Given the description of an element on the screen output the (x, y) to click on. 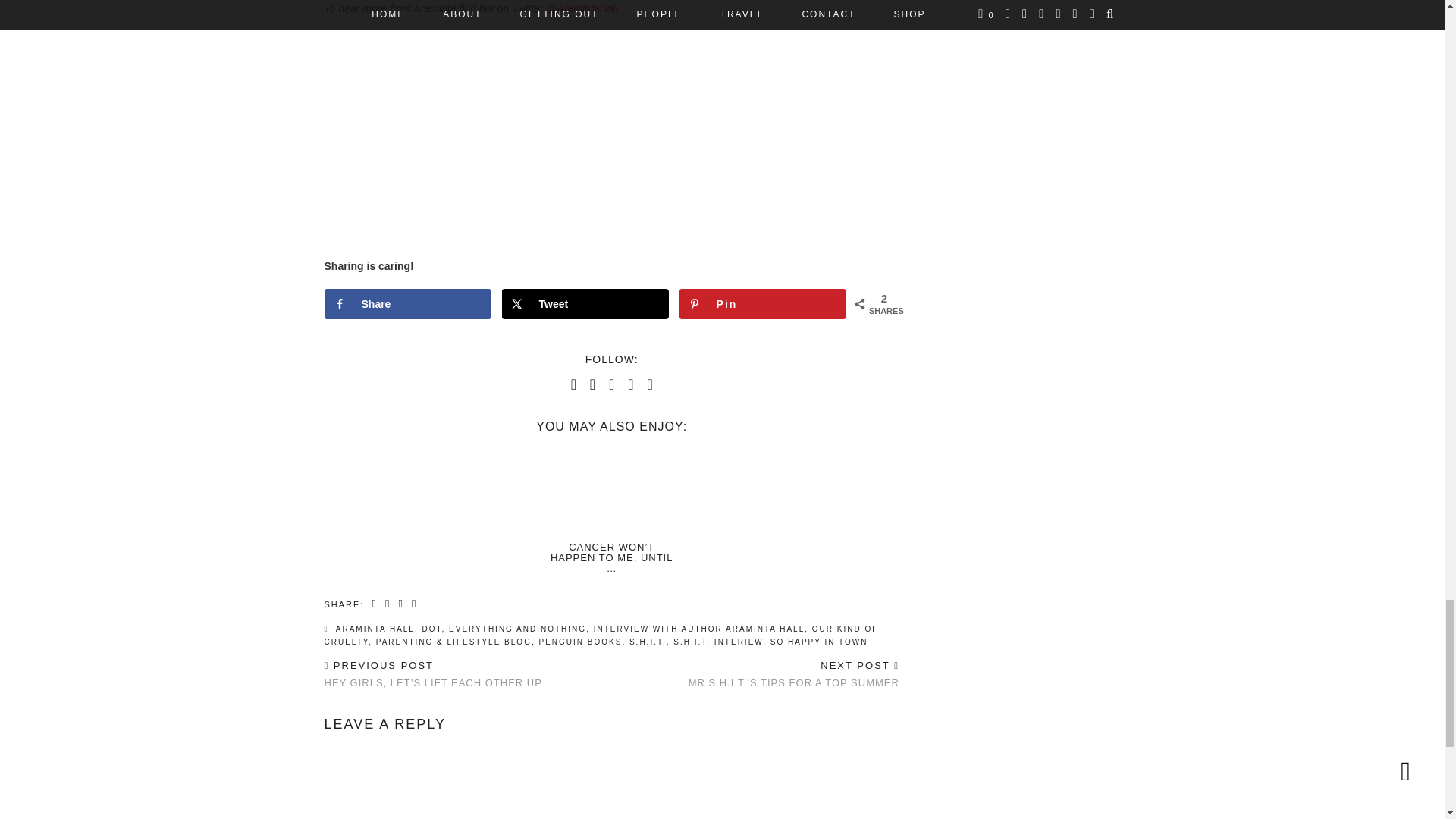
Share on Facebook (408, 304)
Save to Pinterest (762, 304)
Share (408, 304)
Pin (762, 304)
Tweet (585, 304)
Share on X (585, 304)
